Given the description of an element on the screen output the (x, y) to click on. 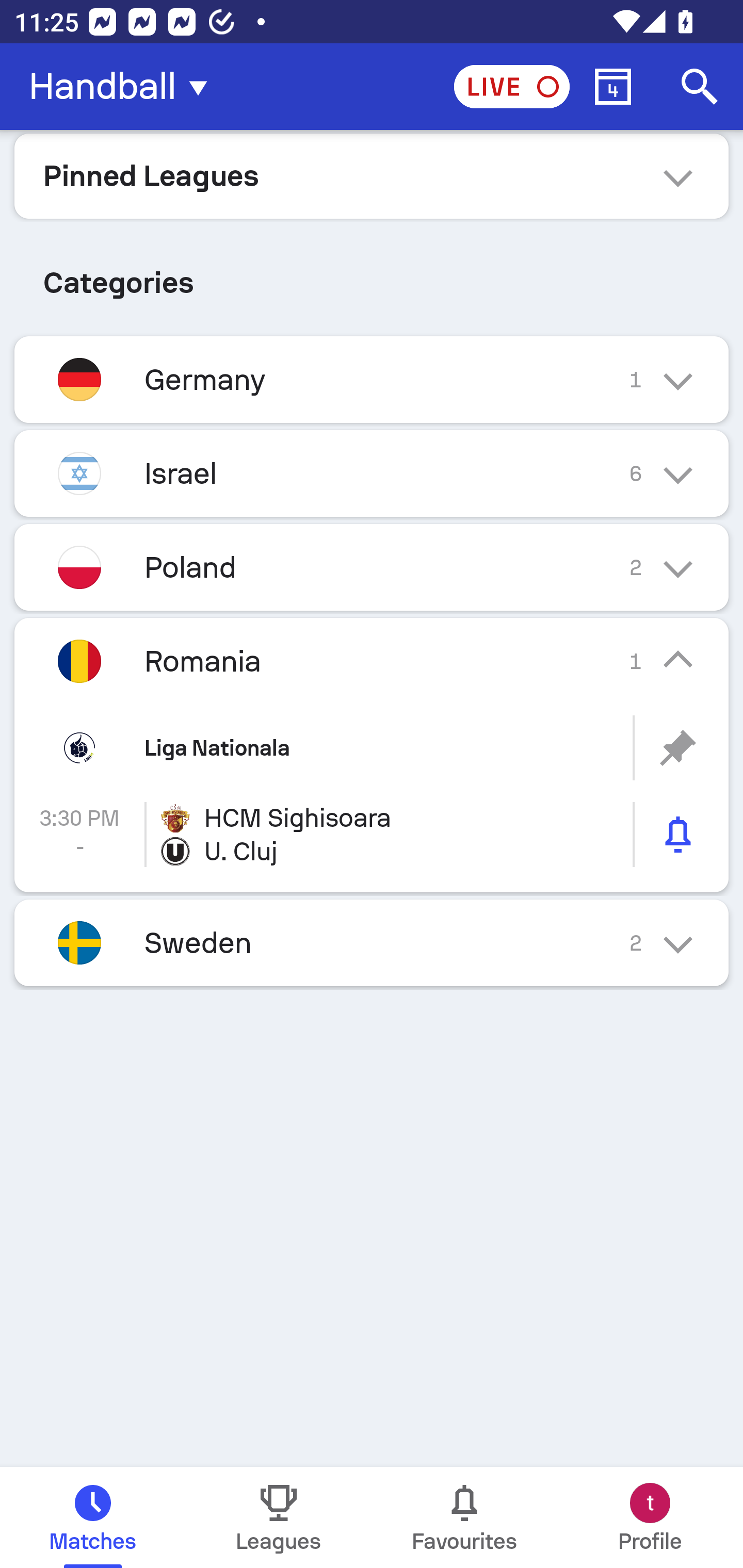
Handball (124, 86)
Calendar (612, 86)
Search (699, 86)
Pinned Leagues (371, 175)
Categories (371, 275)
Germany 1 (371, 379)
Israel 6 (371, 473)
Poland 2 (371, 566)
Romania 1 (371, 660)
Liga Nationala (371, 747)
3:30 PM - HCM Sighisoara U. Cluj (371, 834)
Sweden 2 (371, 943)
Leagues (278, 1517)
Favourites (464, 1517)
Profile (650, 1517)
